Given the description of an element on the screen output the (x, y) to click on. 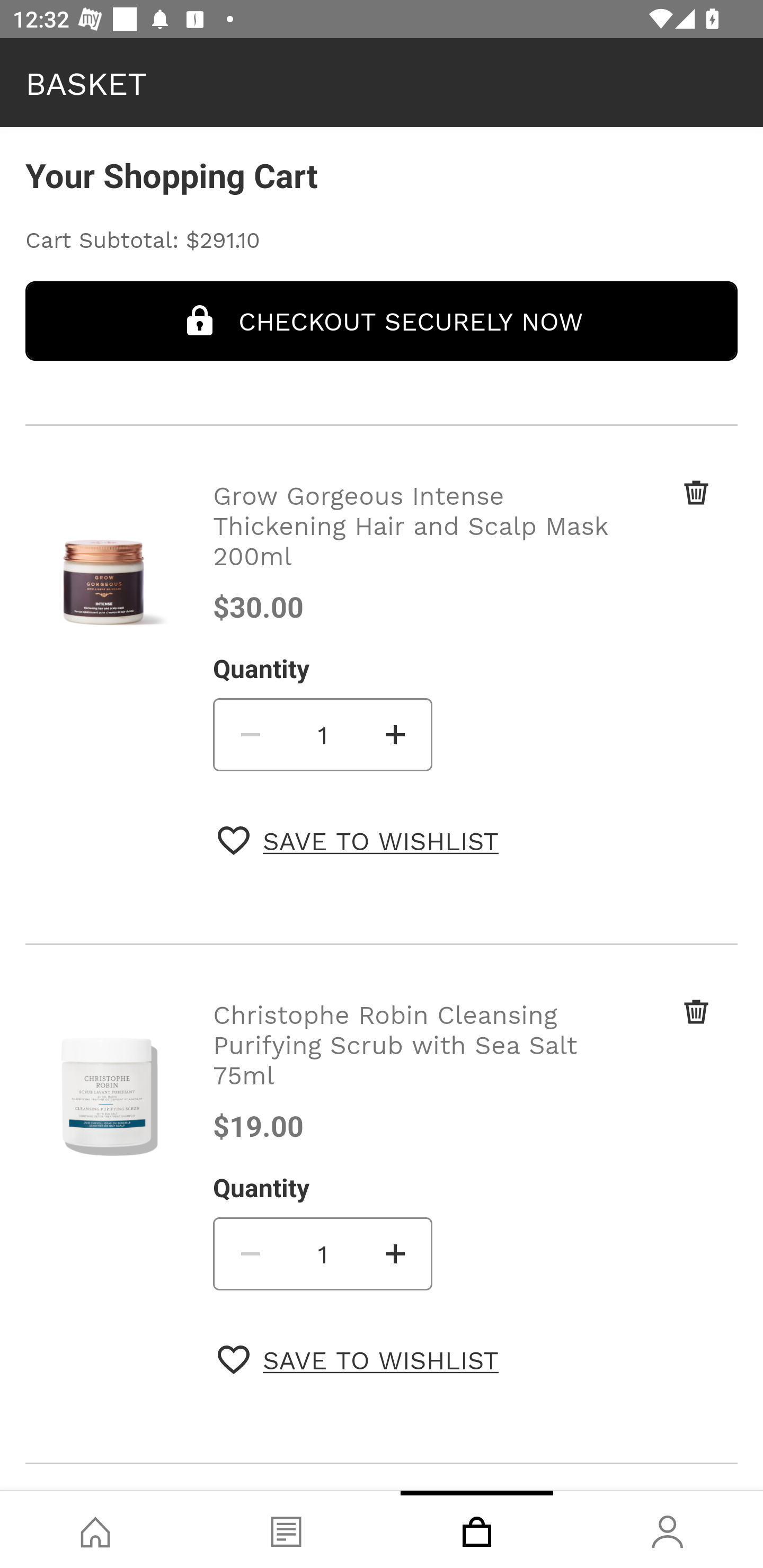
Checkout Securely Now CHECKOUT SECURELY NOW (381, 320)
Remove this item (661, 513)
Decrease quantity (249, 734)
Increase quantity (395, 734)
Save to Wishlist SAVE TO WISHLIST (357, 840)
Remove this item (661, 1032)
Decrease quantity (249, 1253)
Increase quantity (395, 1253)
Save to Wishlist SAVE TO WISHLIST (357, 1359)
Shop, tab, 1 of 4 (95, 1529)
Blog, tab, 2 of 4 (285, 1529)
Basket, tab, 3 of 4 (476, 1529)
Account, tab, 4 of 4 (667, 1529)
